Given the description of an element on the screen output the (x, y) to click on. 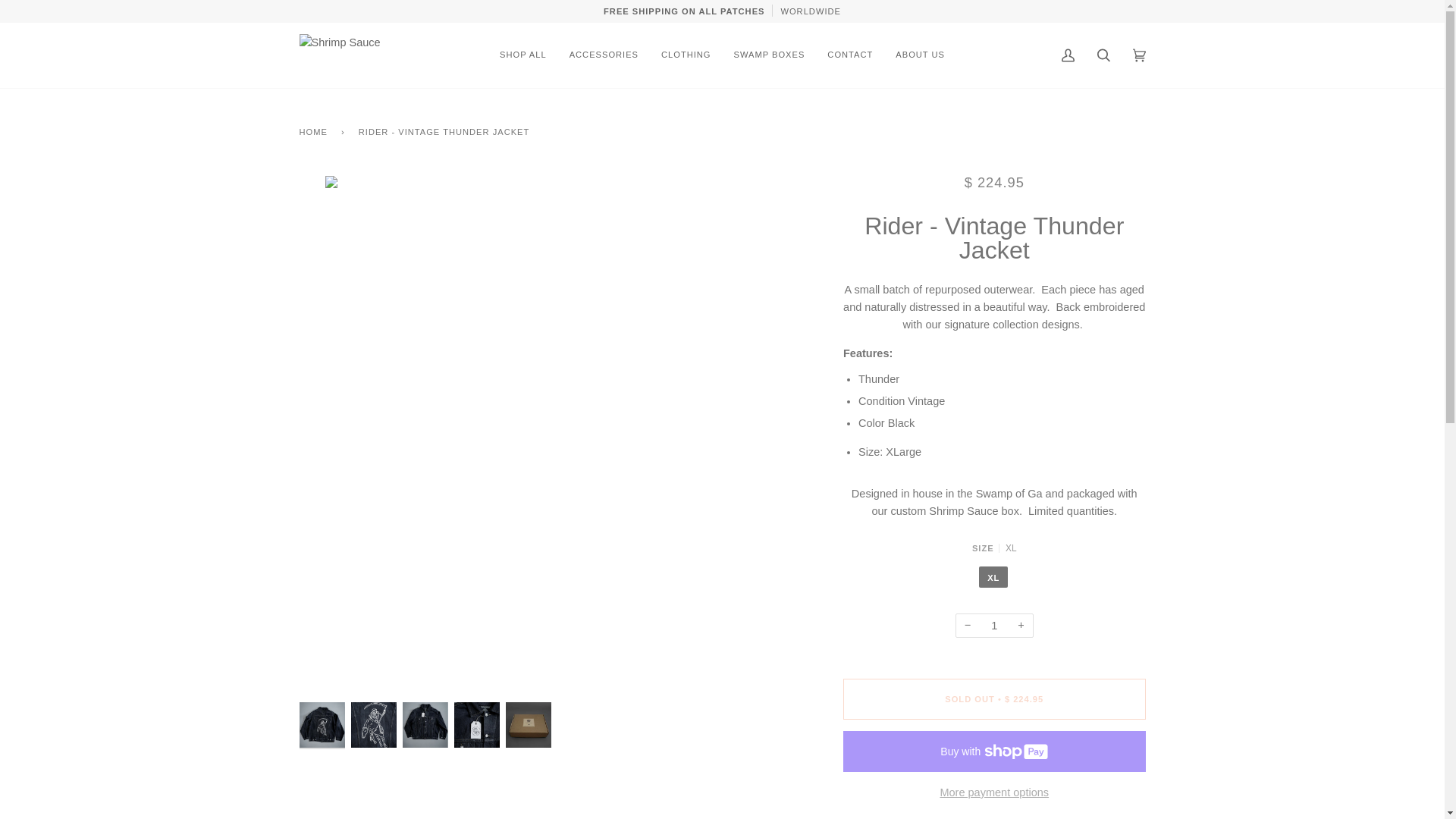
Back to the frontpage (314, 132)
ACCESSORIES (603, 54)
ABOUT US (919, 54)
SHOP ALL (522, 54)
SWAMP BOXES (768, 54)
CLOTHING (685, 54)
1 (994, 625)
CONTACT (849, 54)
